Given the description of an element on the screen output the (x, y) to click on. 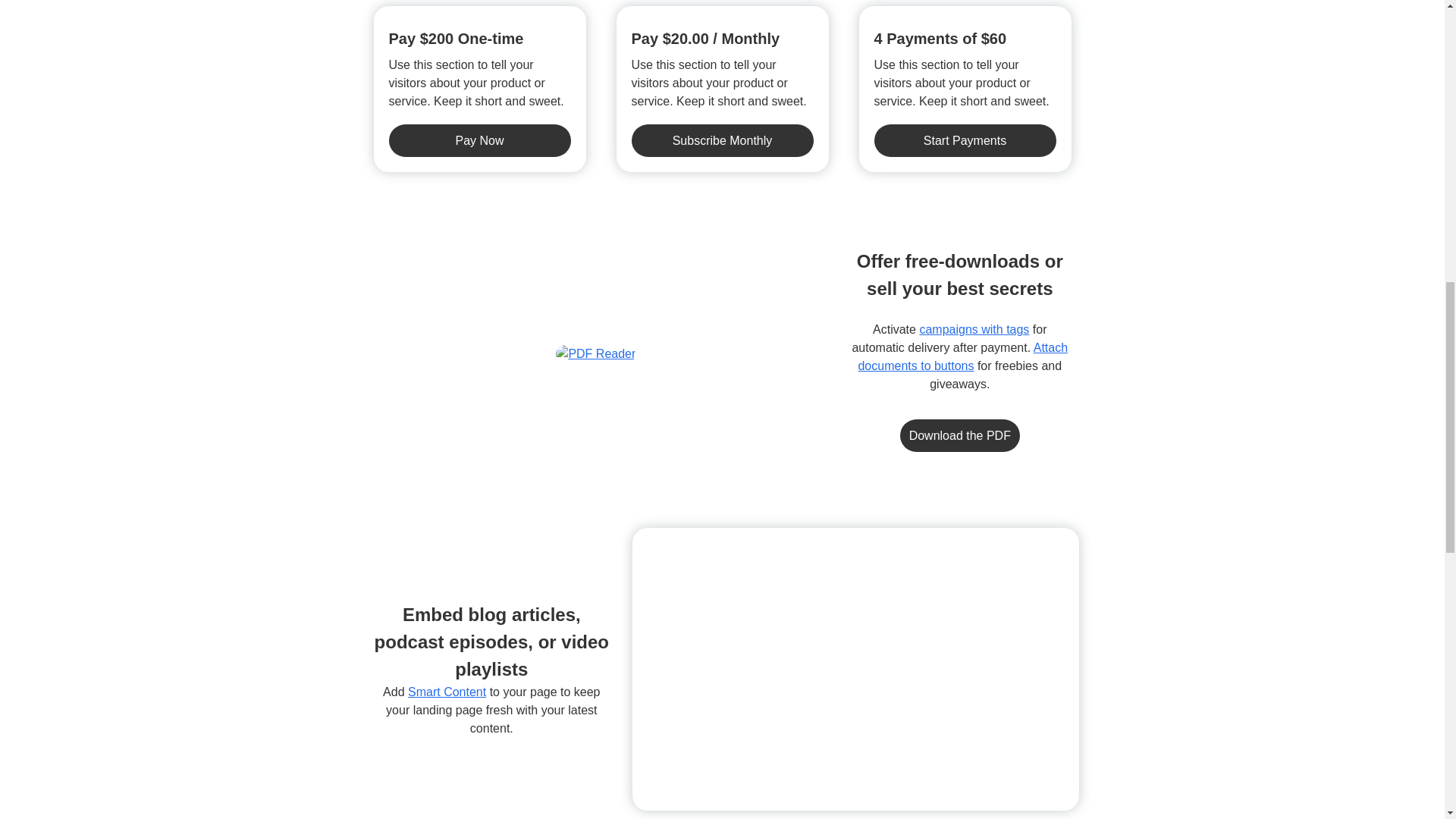
Subscribe Monthly (721, 140)
Pay Now (479, 140)
Start Payments (964, 140)
Download the PDF (959, 435)
campaigns with tags (973, 328)
Attach documents to buttons (962, 356)
Smart Content (446, 691)
